Given the description of an element on the screen output the (x, y) to click on. 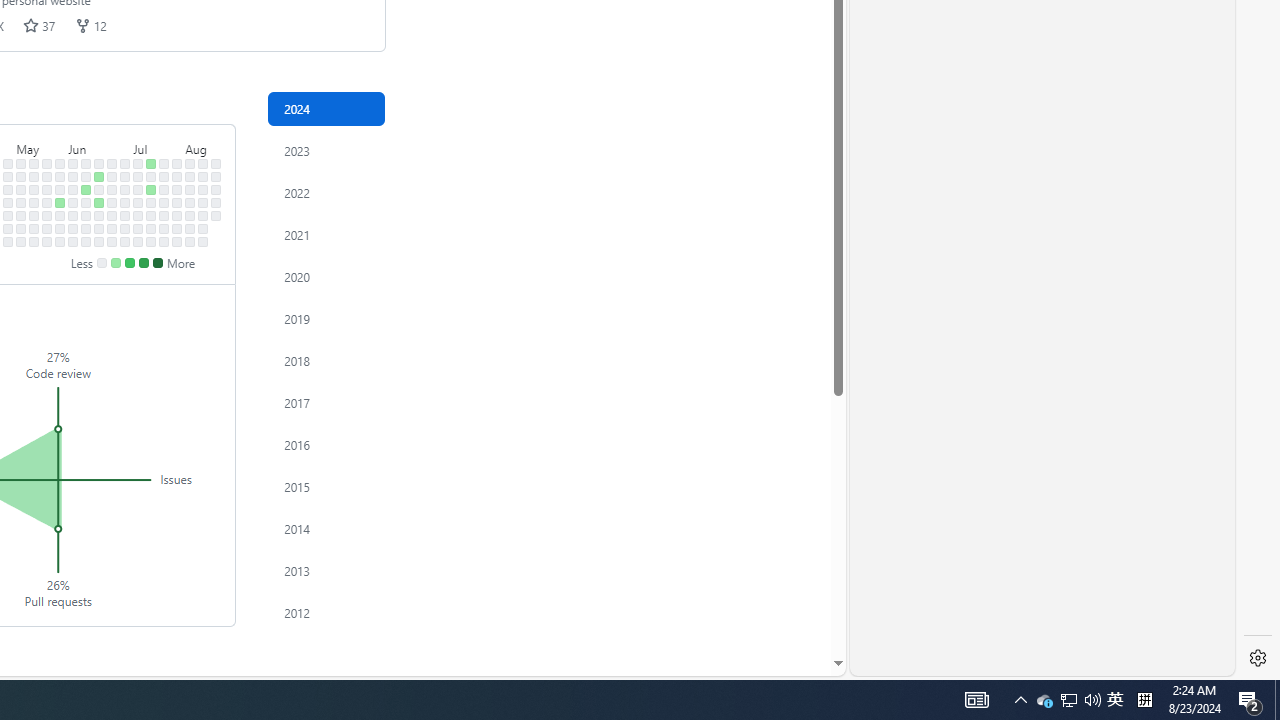
No contributions on May 20th. (47, 176)
No contributions on July 17th. (151, 202)
July (158, 145)
